Given the description of an element on the screen output the (x, y) to click on. 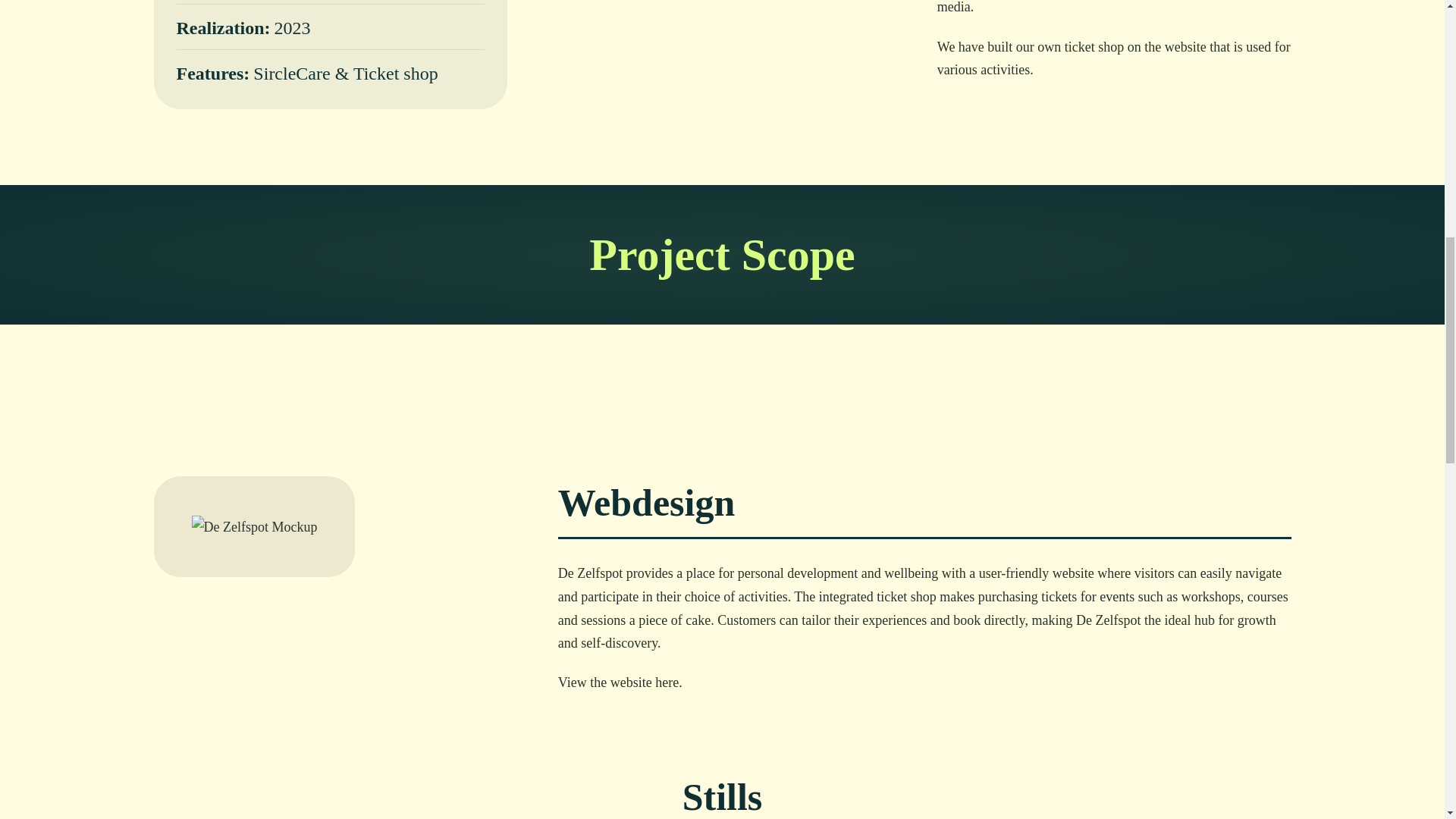
here (666, 682)
